Given the description of an element on the screen output the (x, y) to click on. 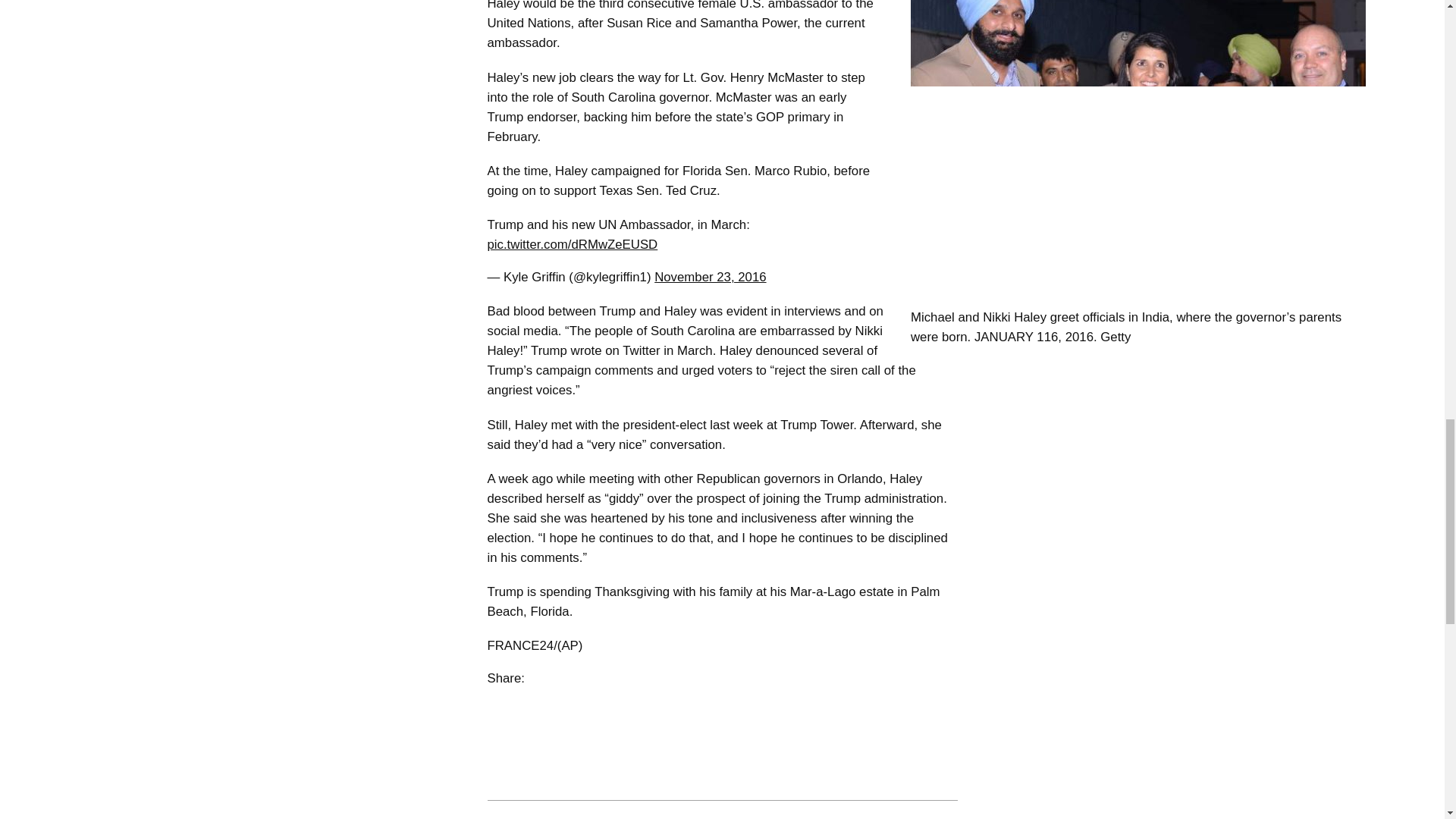
November 23, 2016 (709, 277)
